Given the description of an element on the screen output the (x, y) to click on. 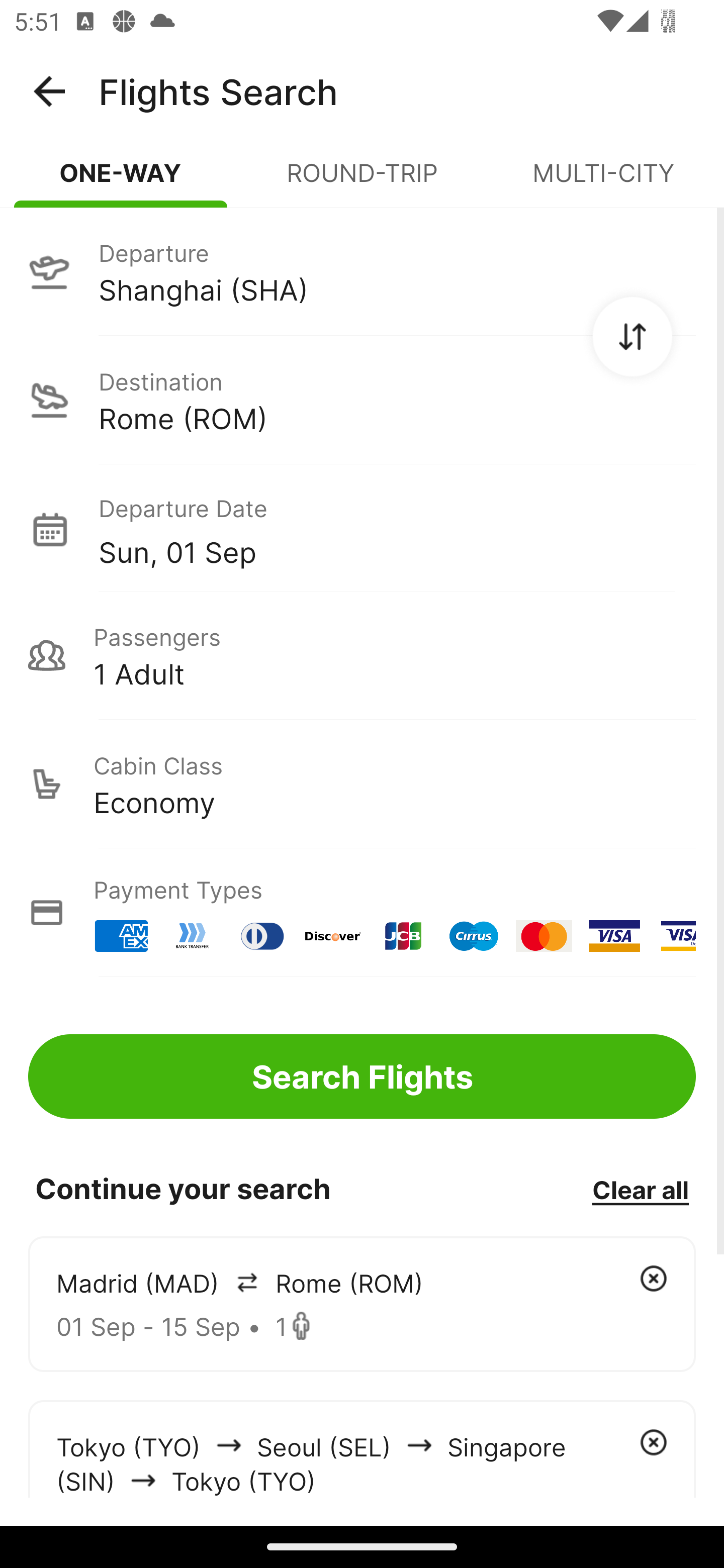
ONE-WAY (120, 180)
ROUND-TRIP (361, 180)
MULTI-CITY (603, 180)
Departure Shanghai (SHA) (362, 270)
Destination Rome (ROM) (362, 400)
Departure Date Sun, 01 Sep (396, 528)
Passengers 1 Adult (362, 655)
Cabin Class Economy (362, 783)
Payment Types (362, 912)
Search Flights (361, 1075)
Clear all (640, 1189)
